Given the description of an element on the screen output the (x, y) to click on. 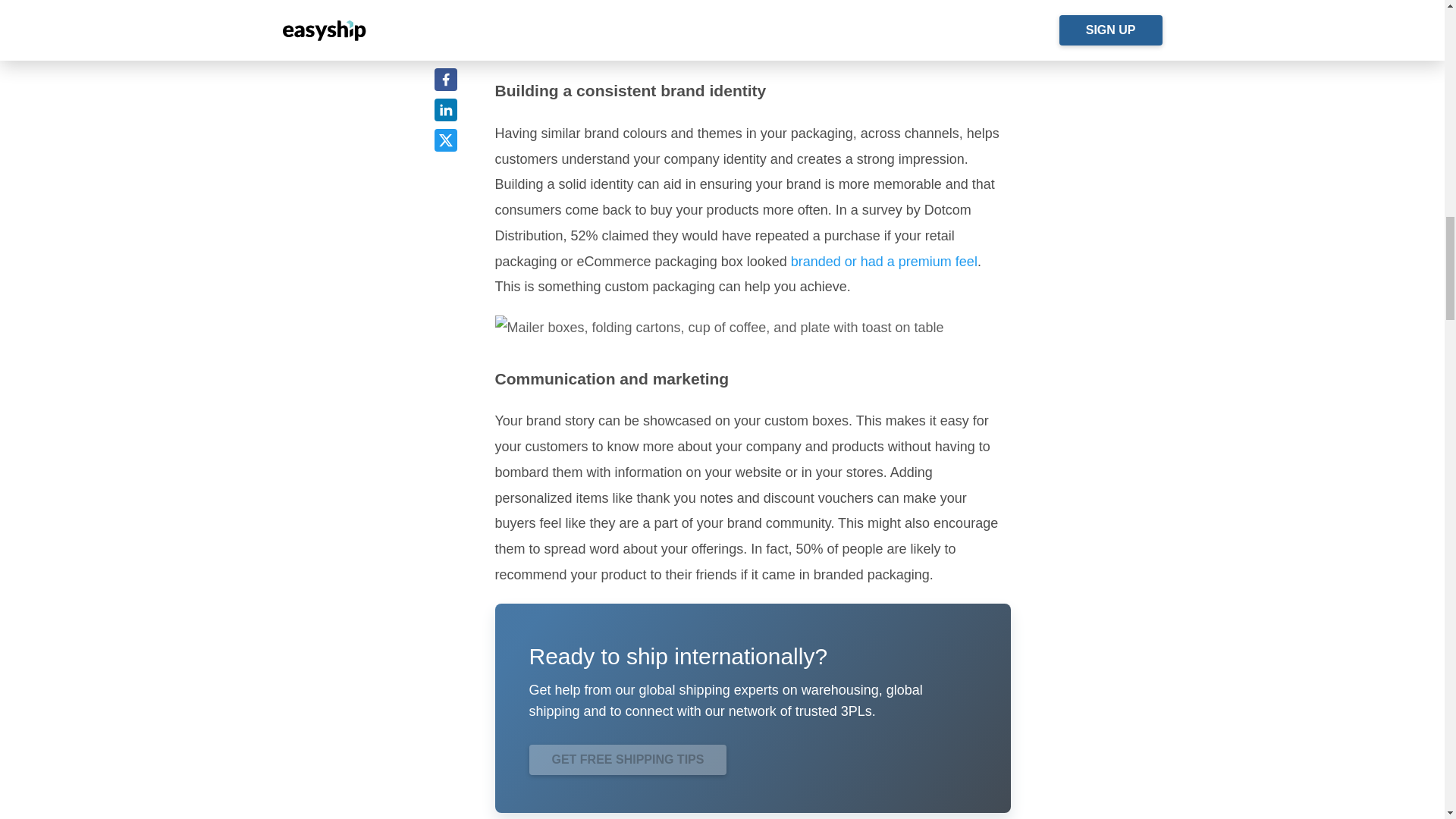
GET FREE SHIPPING TIPS (627, 759)
GET FREE SHIPPING TIPS (627, 758)
branded or had a premium feel (881, 261)
